Given the description of an element on the screen output the (x, y) to click on. 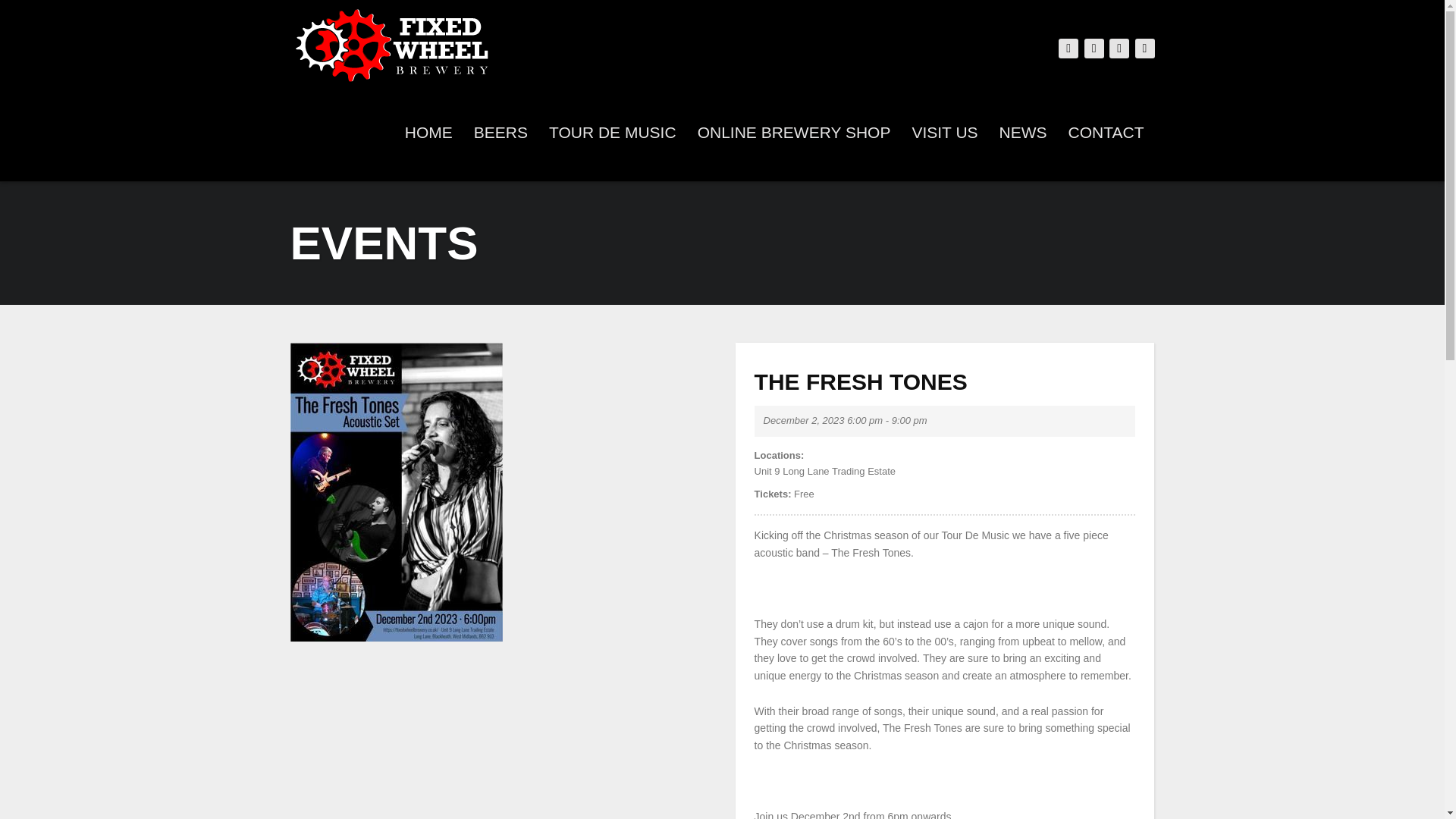
Fixed Wheel Brewery (394, 40)
HOME (428, 132)
NEWS (1023, 132)
VISIT US (944, 132)
BEERS (500, 132)
TOUR DE MUSIC (612, 132)
Unit 9 Long Lane Trading Estate (944, 471)
December 2, 2023 6:00 pm - 9:00 pm (844, 420)
CONTACT (1106, 132)
ONLINE BREWERY SHOP (793, 132)
